Given the description of an element on the screen output the (x, y) to click on. 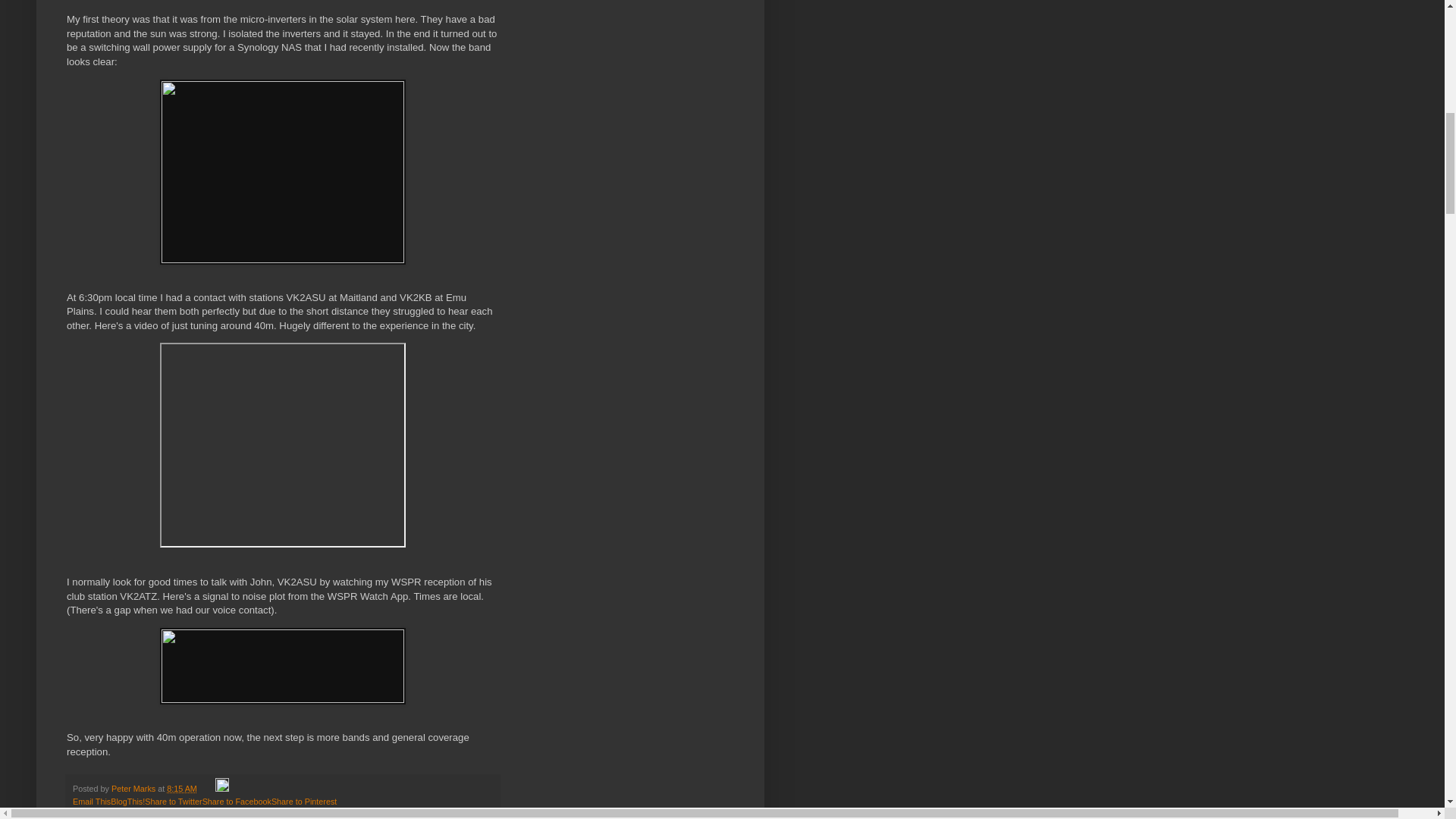
Share to Facebook (236, 800)
Share to Pinterest (303, 800)
Email This (91, 800)
Edit Post (221, 788)
permanent link (181, 788)
Email Post (207, 788)
Peter Marks (134, 788)
Email This (91, 800)
Share to Pinterest (303, 800)
BlogThis! (127, 800)
Share to Facebook (236, 800)
Share to Twitter (173, 800)
author profile (134, 788)
8:15 AM (181, 788)
Share to Twitter (173, 800)
